Given the description of an element on the screen output the (x, y) to click on. 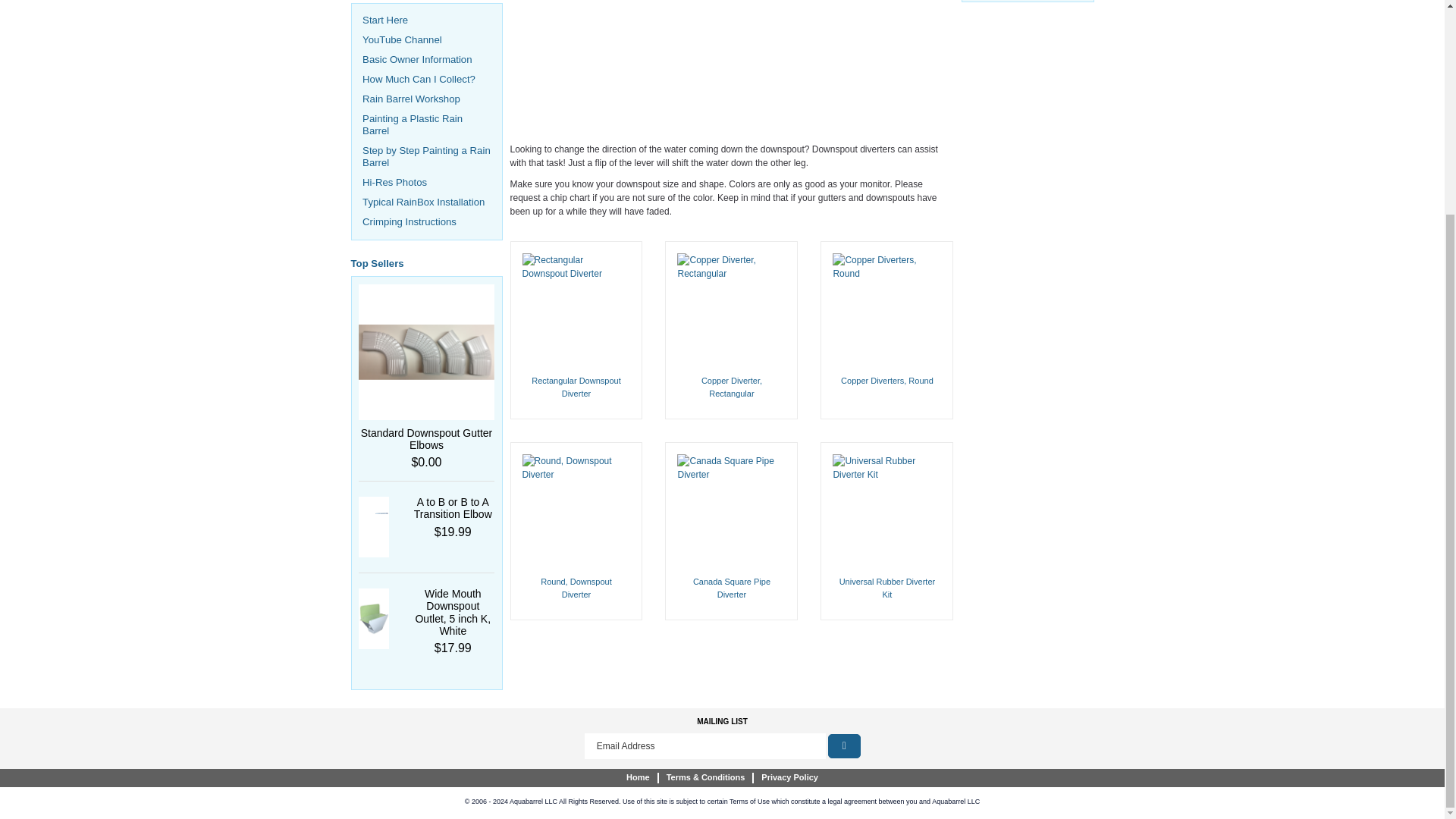
Rain Barrel Workshop (411, 98)
Crimping Instructions (409, 221)
Start Here (384, 19)
How Much Can I Collect? (419, 79)
Painting a Plastic Rain Barrel (412, 124)
Standard Downspout Gutter Elbows (427, 438)
Wide Mouth Downspout Outlet, 5 inch K, White (452, 612)
Step by Step Painting a Rain Barrel (426, 156)
A to B or B to A Transition Elbow (452, 508)
YouTube Channel (402, 39)
